Given the description of an element on the screen output the (x, y) to click on. 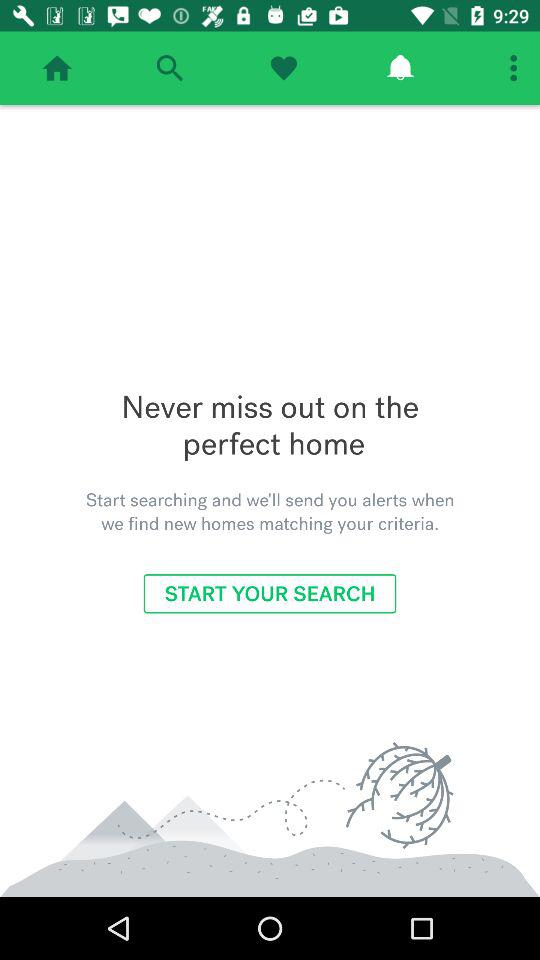
check alerts/notifications (400, 68)
